Given the description of an element on the screen output the (x, y) to click on. 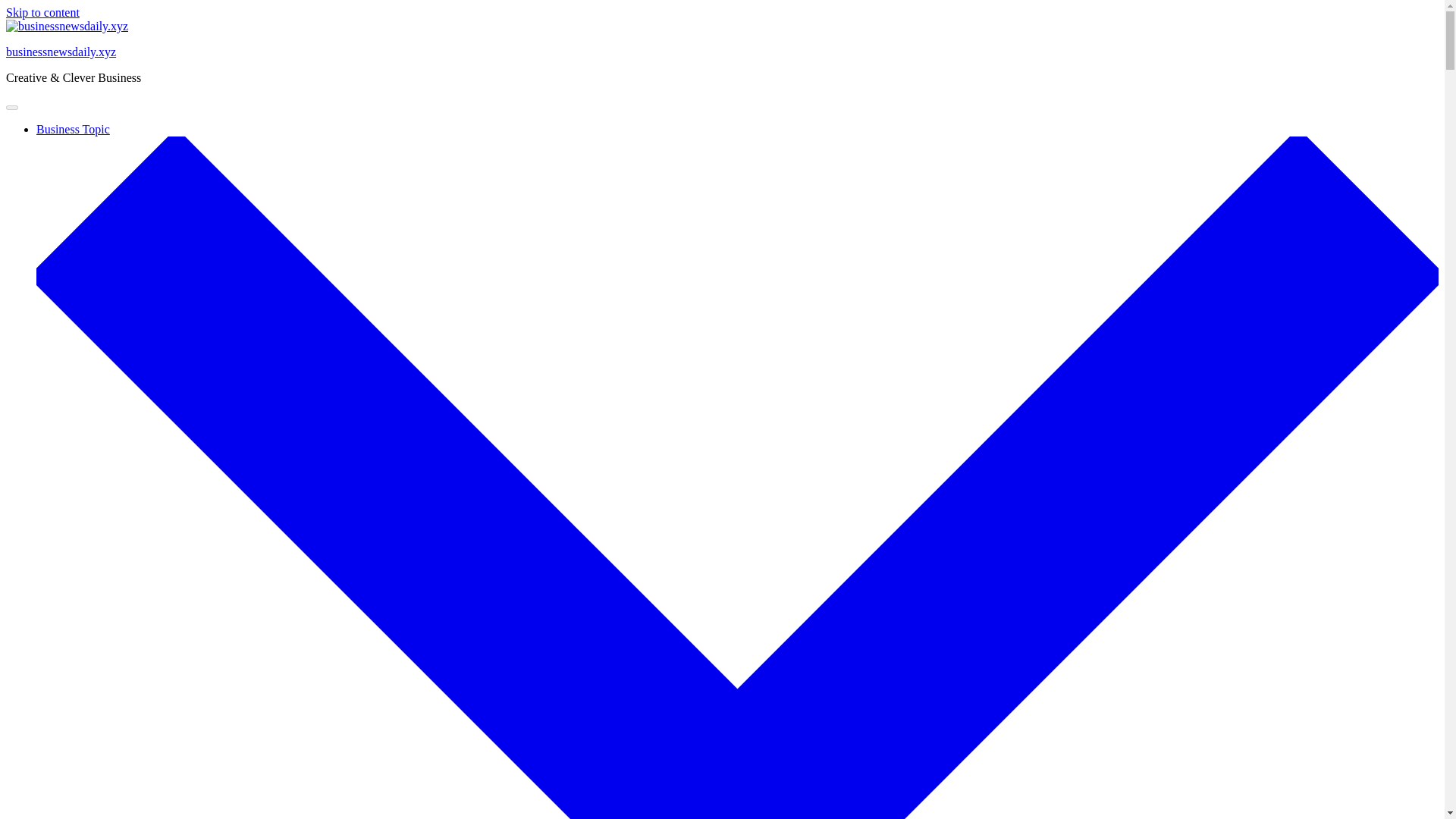
Skip to content (42, 11)
businessnewsdaily.xyz (60, 51)
